Given the description of an element on the screen output the (x, y) to click on. 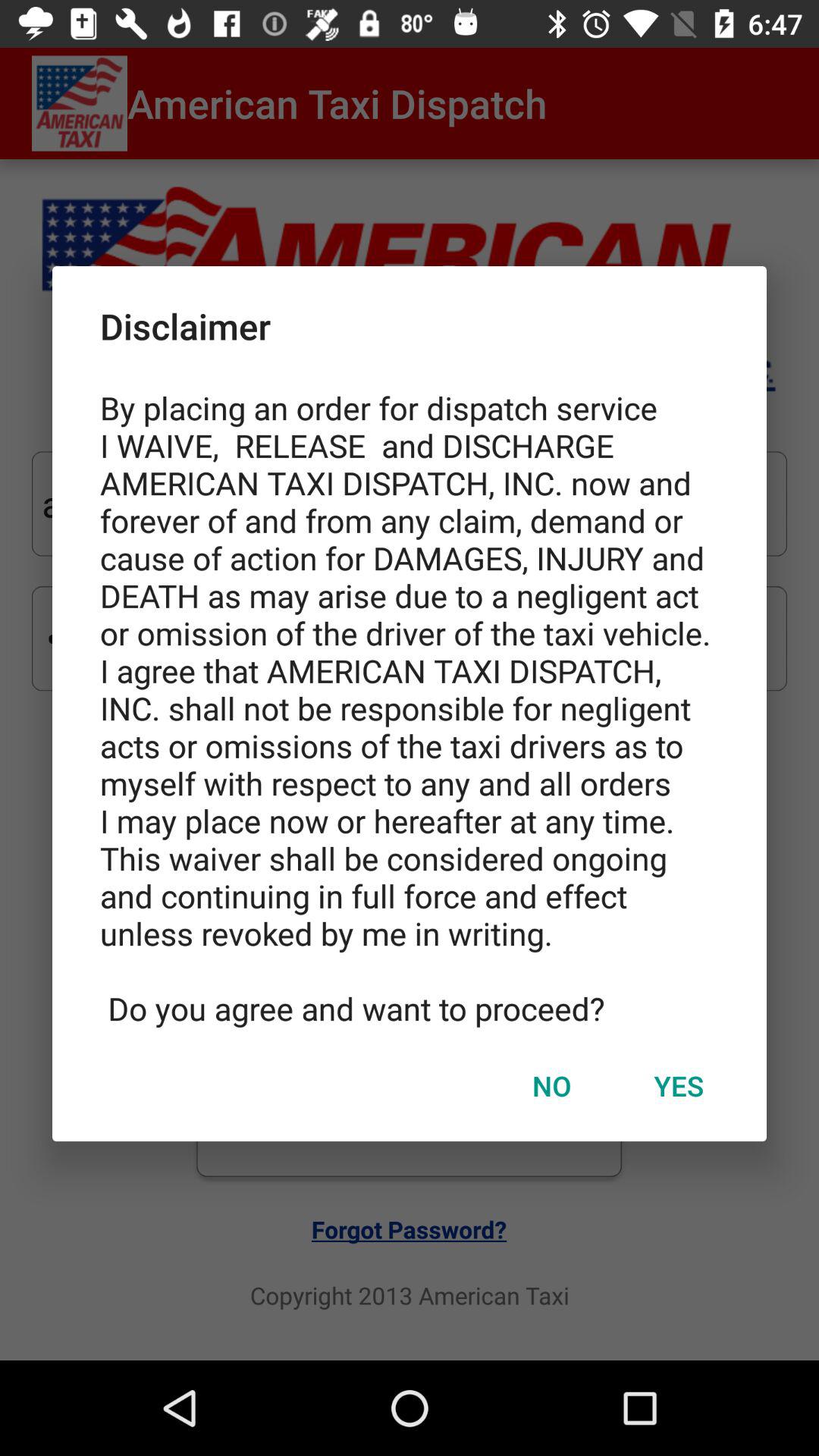
flip until the yes (678, 1085)
